Given the description of an element on the screen output the (x, y) to click on. 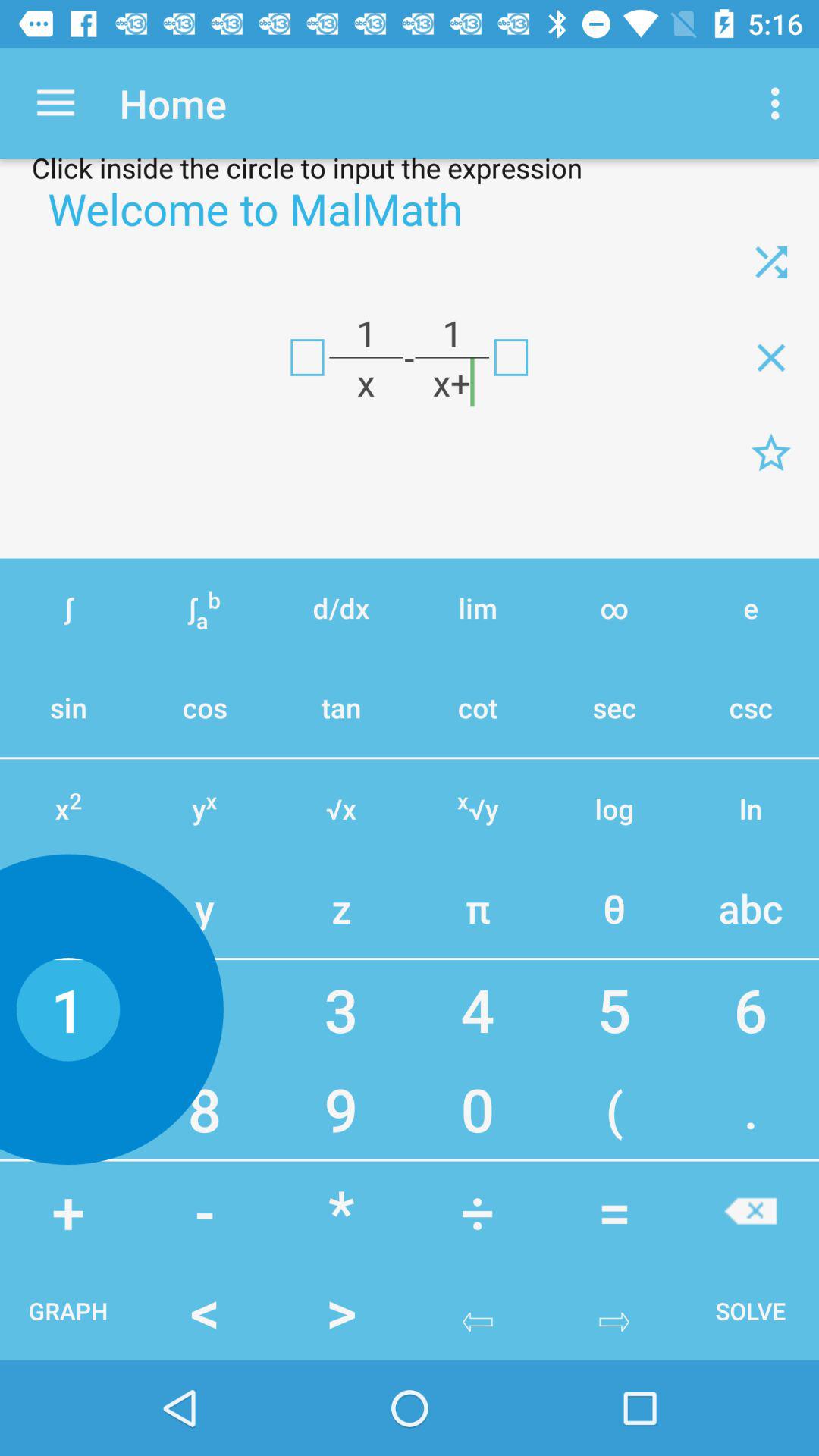
formula (307, 357)
